Given the description of an element on the screen output the (x, y) to click on. 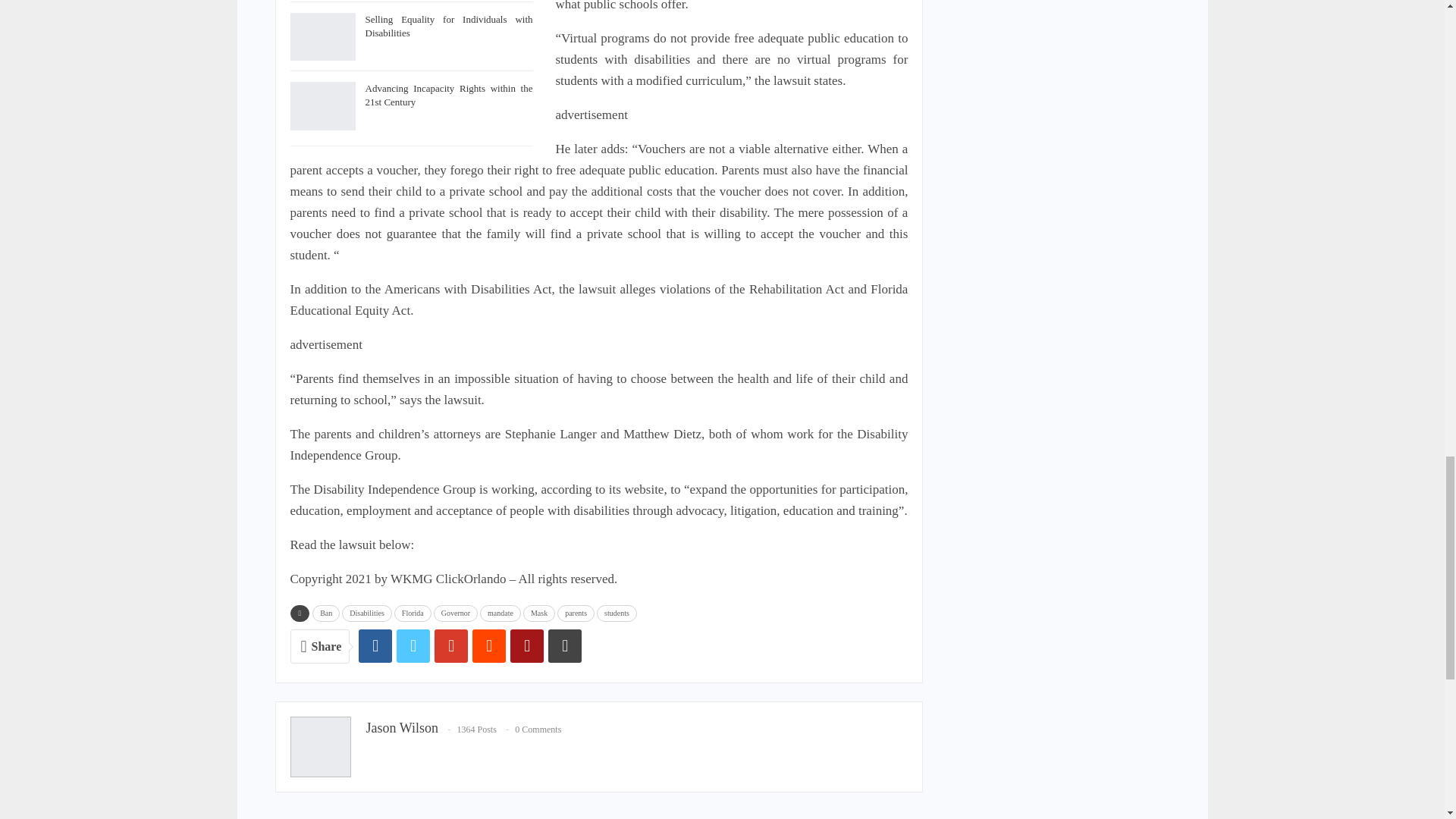
Advancing Incapacity Rights within the 21st Century (322, 105)
Governor (455, 613)
mandate (500, 613)
students (616, 613)
Mask (538, 613)
Florida (412, 613)
Advancing Incapacity Rights within the 21st Century (448, 94)
Disabilities (366, 613)
Selling Equality for Individuals with Disabilities (322, 37)
parents (575, 613)
Ban (326, 613)
Selling Equality for Individuals with Disabilities (448, 25)
